Given the description of an element on the screen output the (x, y) to click on. 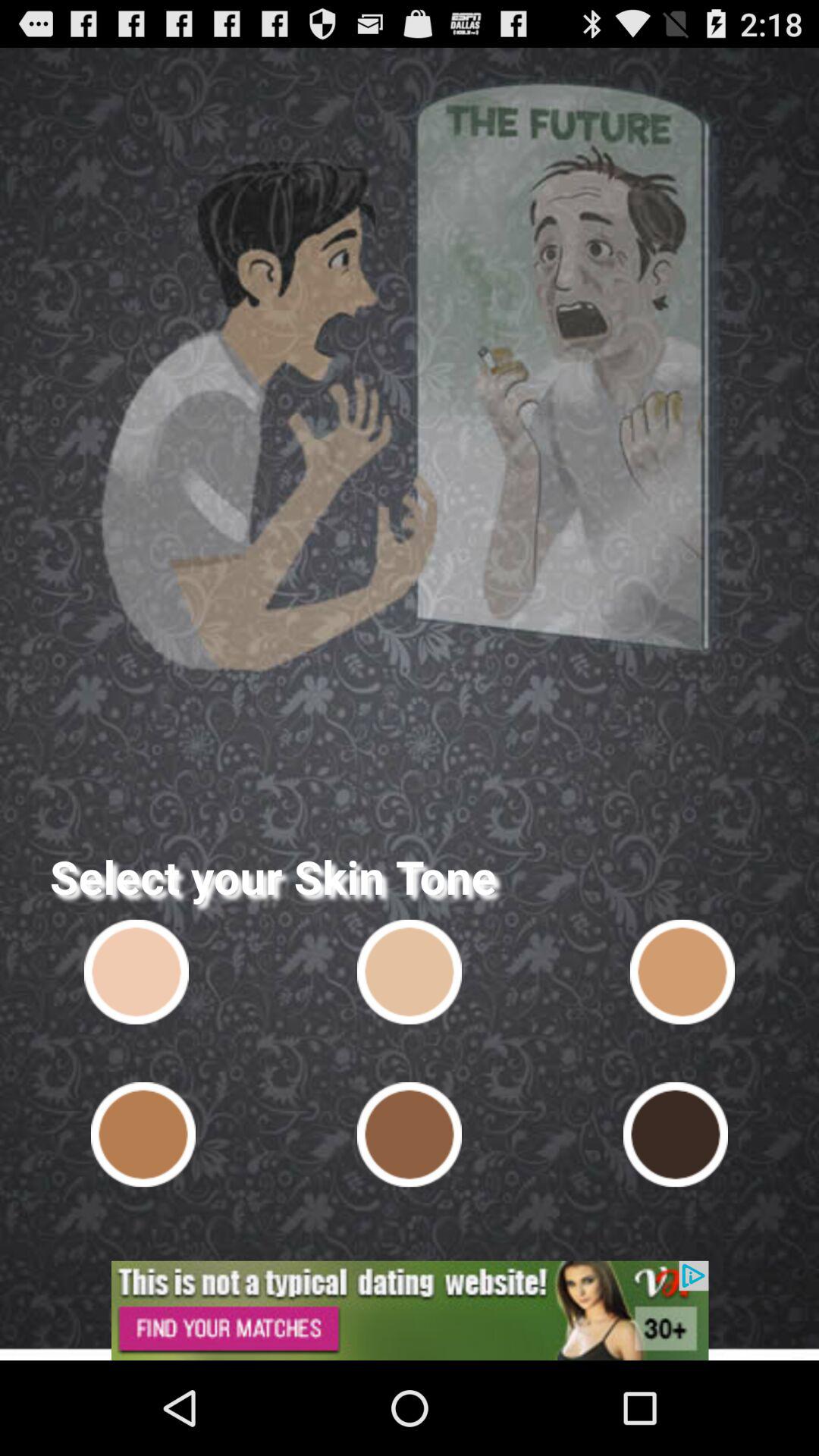
select it (136, 971)
